Given the description of an element on the screen output the (x, y) to click on. 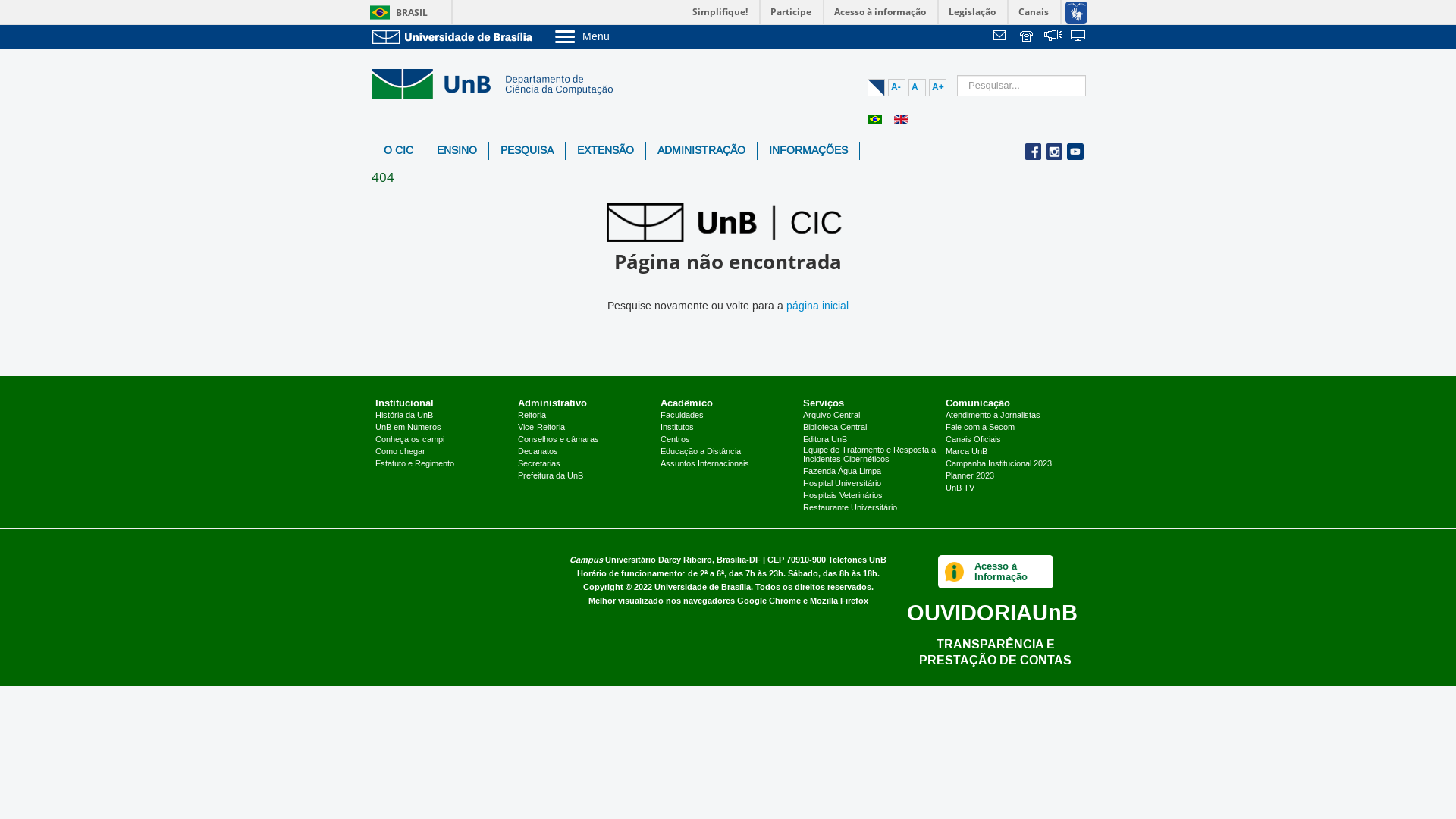
Planner 2023 Element type: text (969, 475)
Sistemas Element type: hover (1079, 37)
Editora UnB Element type: text (825, 439)
Reitoria Element type: text (531, 415)
BRASIL Element type: text (396, 12)
Como chegar Element type: text (400, 451)
Estatuto e Regimento Element type: text (414, 463)
Institutos Element type: text (676, 427)
Telefones da UnB Element type: hover (1027, 37)
Biblioteca Central Element type: text (834, 427)
Telefones UnB Element type: text (857, 559)
Assuntos Internacionais Element type: text (704, 463)
Menu Element type: text (619, 35)
A Element type: text (916, 87)
Ir para o Portal da UnB Element type: hover (454, 36)
  Element type: text (1027, 37)
  Element type: text (1053, 37)
Campanha Institucional 2023 Element type: text (998, 463)
Webmail Element type: hover (1001, 37)
Fale com a Secom Element type: text (979, 427)
Prefeitura da UnB Element type: text (550, 475)
OUVIDORIAUnB Element type: text (991, 612)
English (UK) Element type: hover (900, 118)
A+ Element type: text (937, 87)
Vice-Reitoria Element type: text (540, 427)
Arquivo Central Element type: text (831, 415)
Secretarias Element type: text (538, 463)
  Element type: text (1079, 37)
Canais Oficiais Element type: text (973, 439)
  Element type: text (1001, 37)
Marca UnB Element type: text (966, 451)
Atendimento a Jornalistas Element type: text (992, 415)
Faculdades Element type: text (681, 415)
A- Element type: text (896, 87)
Centros Element type: text (675, 439)
UnB TV Element type: text (959, 487)
Fala.BR Element type: hover (1053, 37)
Decanatos Element type: text (537, 451)
